Given the description of an element on the screen output the (x, y) to click on. 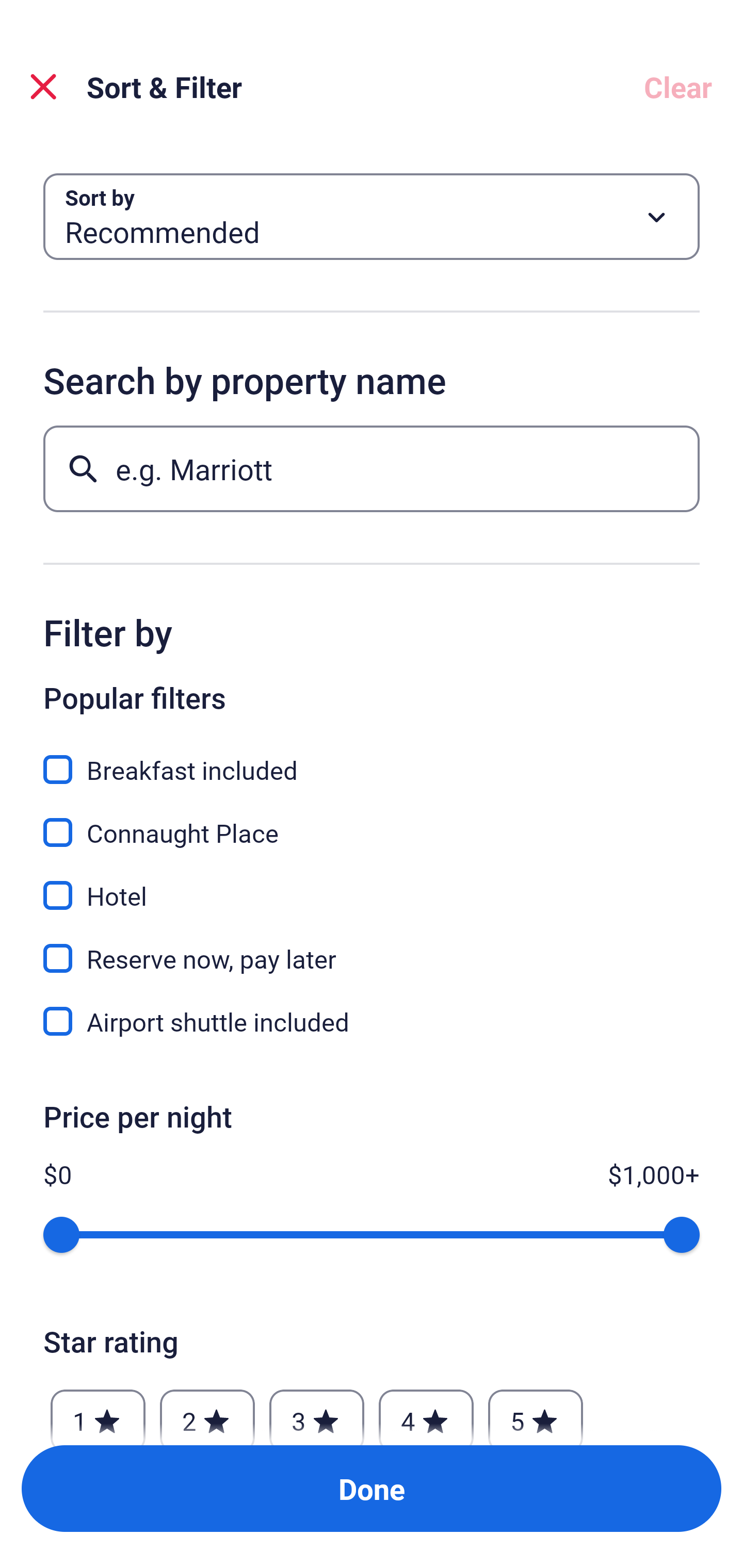
Close Sort and Filter (43, 86)
Clear (677, 86)
Sort by Button Recommended (371, 217)
e.g. Marriott Button (371, 468)
Breakfast included, Breakfast included (371, 757)
Connaught Place, Connaught Place (371, 821)
Hotel, Hotel (371, 883)
Reserve now, pay later, Reserve now, pay later (371, 946)
Airport shuttle included, Airport shuttle included (371, 1021)
1 (97, 1411)
2 (206, 1411)
3 (316, 1411)
4 (426, 1411)
5 (535, 1411)
Apply and close Sort and Filter Done (371, 1488)
